Given the description of an element on the screen output the (x, y) to click on. 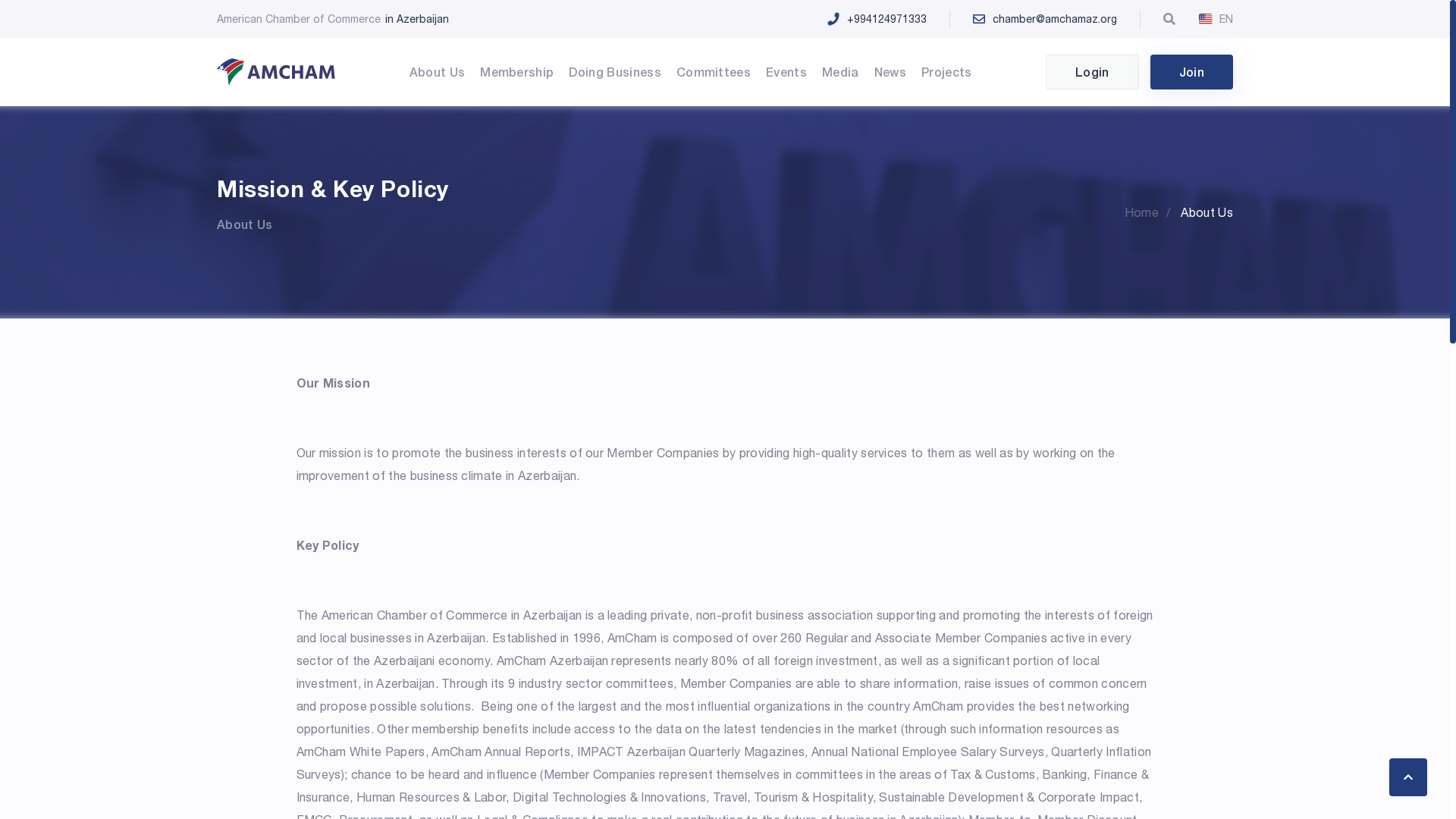
Home Element type: text (1151, 212)
Join Element type: text (1191, 71)
chamber@amchamaz.org Element type: text (1067, 18)
Login Element type: text (1092, 71)
+994124971333 Element type: text (899, 18)
About Us Element type: text (1206, 212)
